Given the description of an element on the screen output the (x, y) to click on. 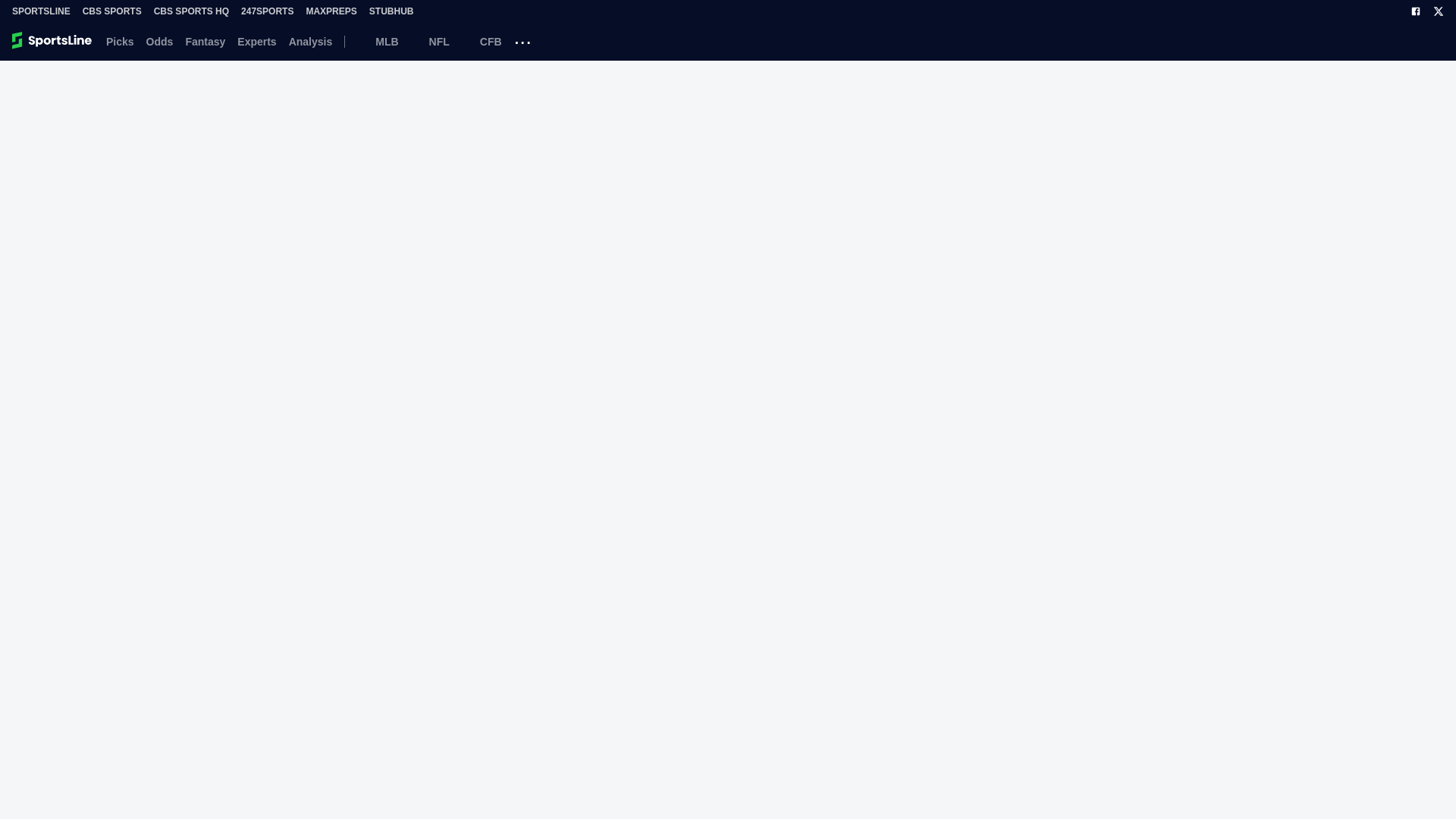
MAXPREPS (330, 11)
MaxPreps (330, 11)
SportsLine (40, 11)
Fantasy (204, 41)
CFB (481, 41)
StubHub (391, 11)
Experts (256, 41)
NFL (429, 41)
sportsline.com (52, 41)
SPORTSLINE (40, 11)
CBS Sports HQ (191, 11)
Analysis (310, 41)
CBS Sports (111, 11)
247SPORTS (267, 11)
CBS SPORTS (111, 11)
